Given the description of an element on the screen output the (x, y) to click on. 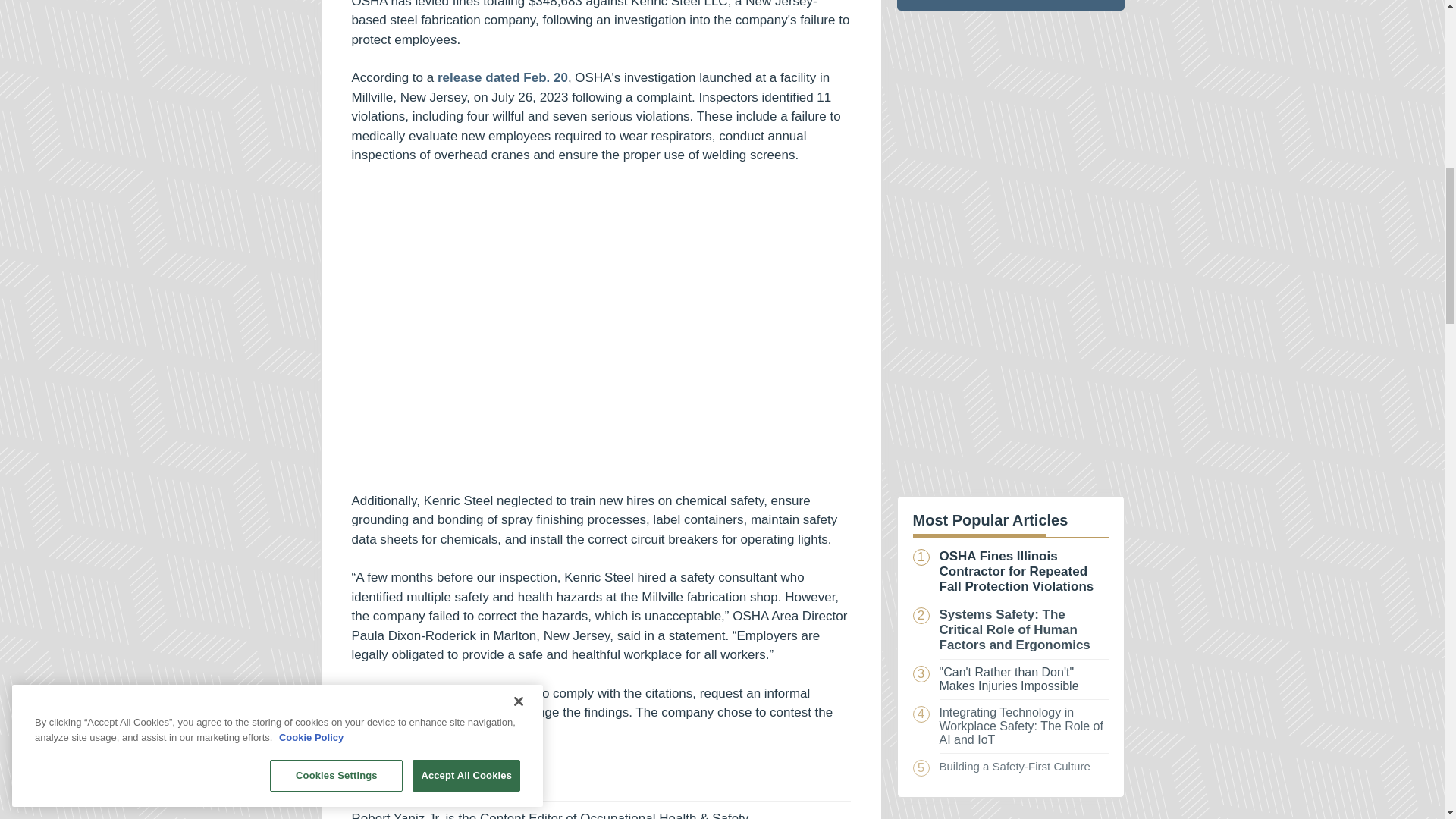
3rd party ad content (1010, 816)
3rd party ad content (600, 331)
